Given the description of an element on the screen output the (x, y) to click on. 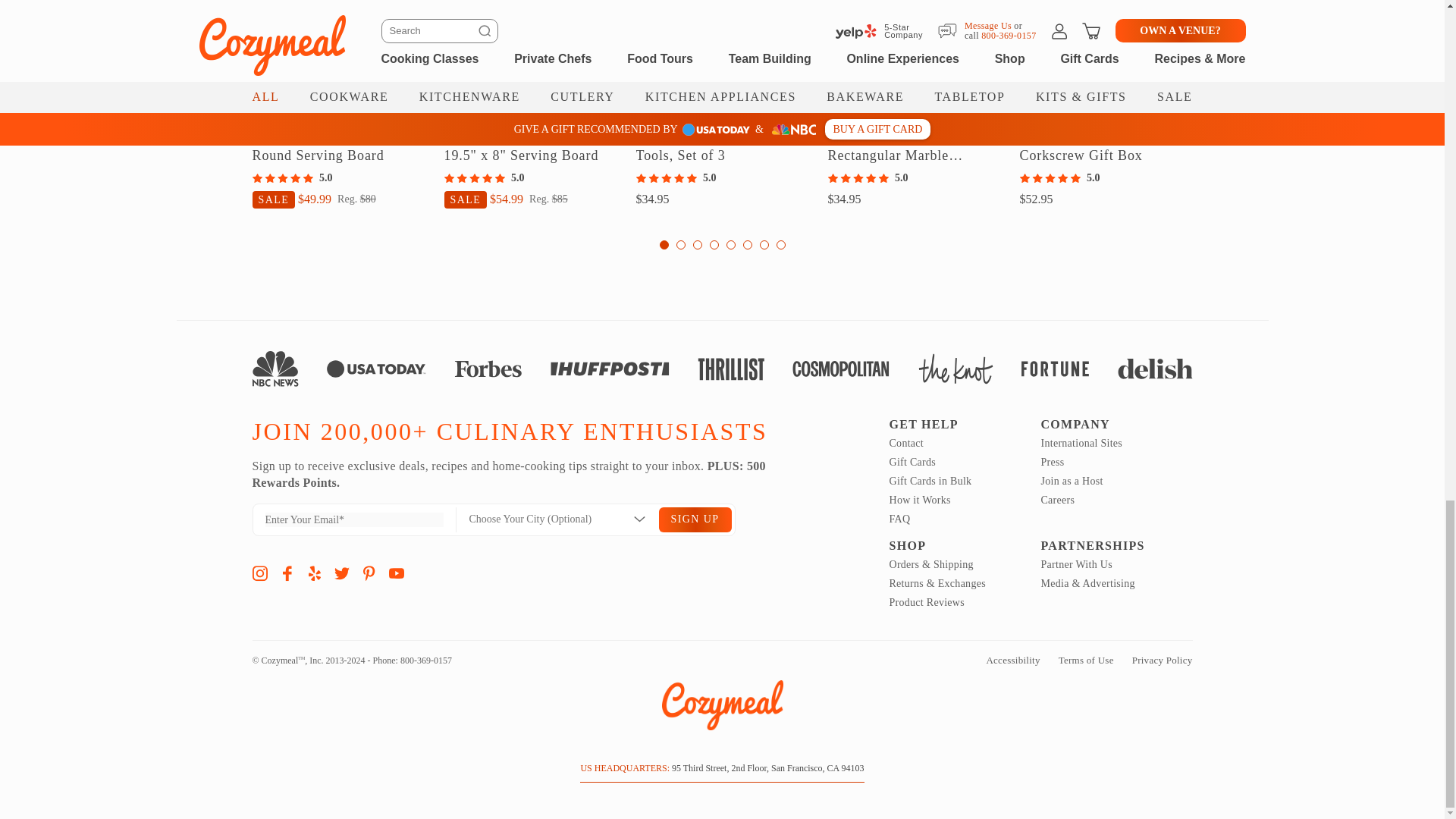
YouTube (395, 573)
Yelp (313, 573)
Pinterest (368, 573)
Twitter (341, 573)
Instagram (258, 573)
Facebook (286, 573)
